Given the description of an element on the screen output the (x, y) to click on. 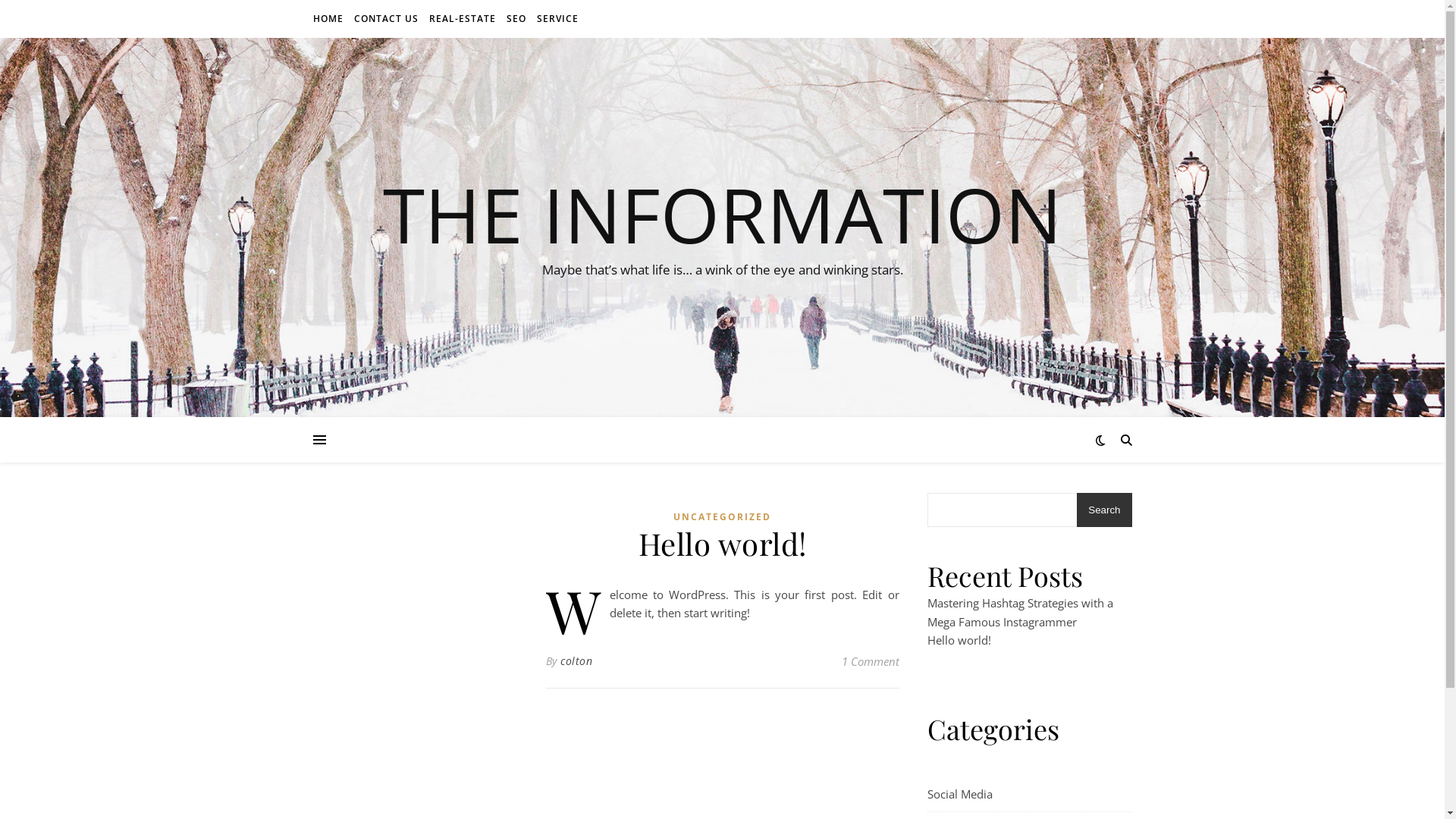
THE INFORMATION Element type: text (722, 213)
Search Element type: text (1103, 509)
HOME Element type: text (329, 18)
UNCATEGORIZED Element type: text (722, 517)
CONTACT US Element type: text (386, 18)
colton Element type: text (576, 660)
SERVICE Element type: text (554, 18)
1 Comment Element type: text (870, 660)
Hello world! Element type: text (958, 639)
Social Media Element type: text (958, 794)
REAL-ESTATE Element type: text (461, 18)
Mastering Hashtag Strategies with a Mega Famous Instagrammer Element type: text (1019, 612)
SEO Element type: text (515, 18)
